Given the description of an element on the screen output the (x, y) to click on. 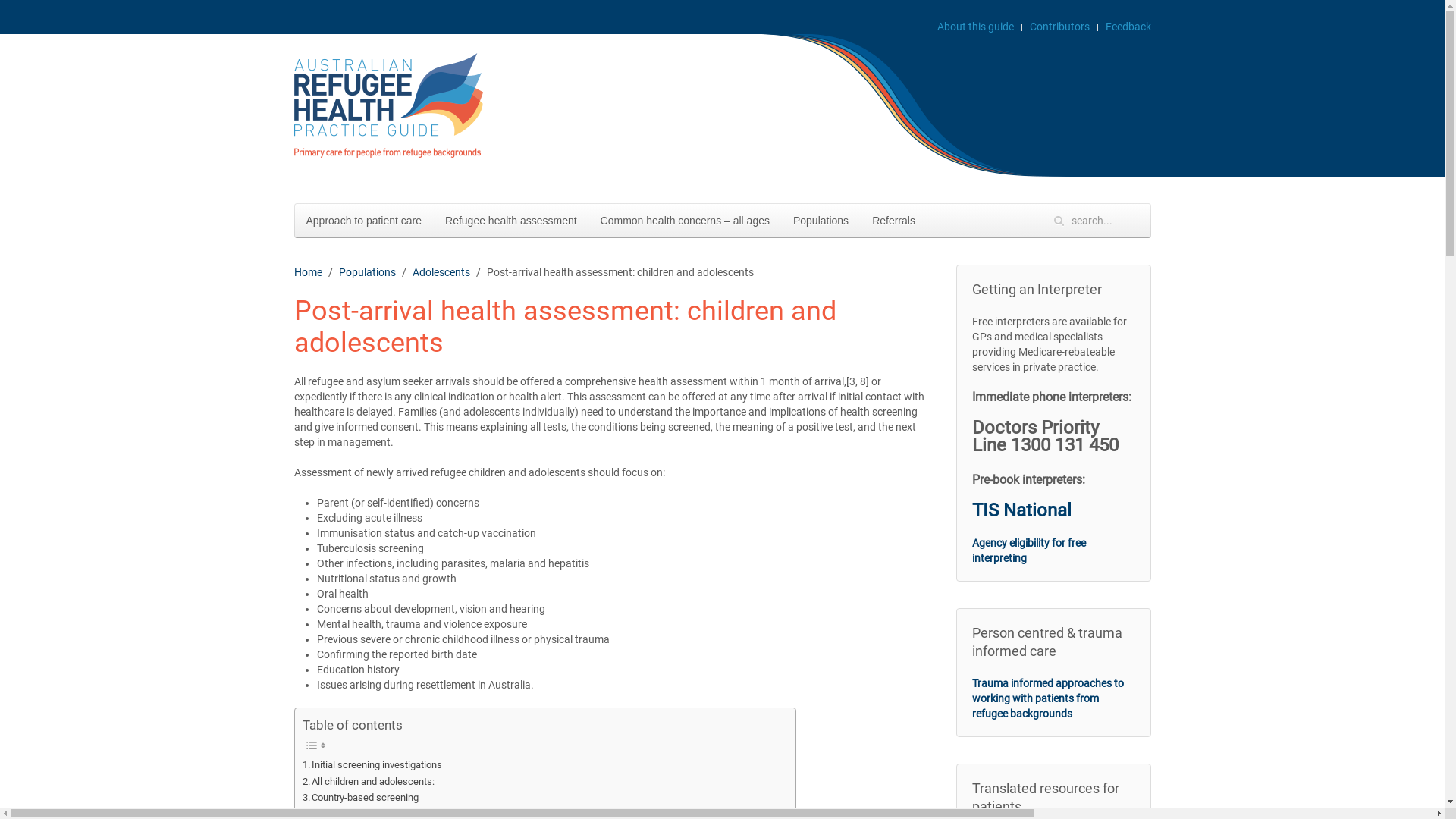
Home Element type: text (308, 271)
About this guide Element type: text (975, 26)
Country-based screening Element type: text (359, 797)
Populations Element type: text (820, 220)
TIS National Element type: text (1021, 509)
Populations Element type: text (366, 271)
Adolescents Element type: text (441, 271)
Refugee health assessment Element type: text (511, 220)
Feedback Element type: text (1128, 26)
Contributors Element type: text (1059, 26)
Approach to patient care Element type: text (364, 220)
Initial screening investigations Element type: text (371, 764)
Referrals Element type: text (893, 220)
All children and adolescents: Element type: text (367, 781)
Agency eligibility for free interpreting Element type: text (1028, 550)
